Given the description of an element on the screen output the (x, y) to click on. 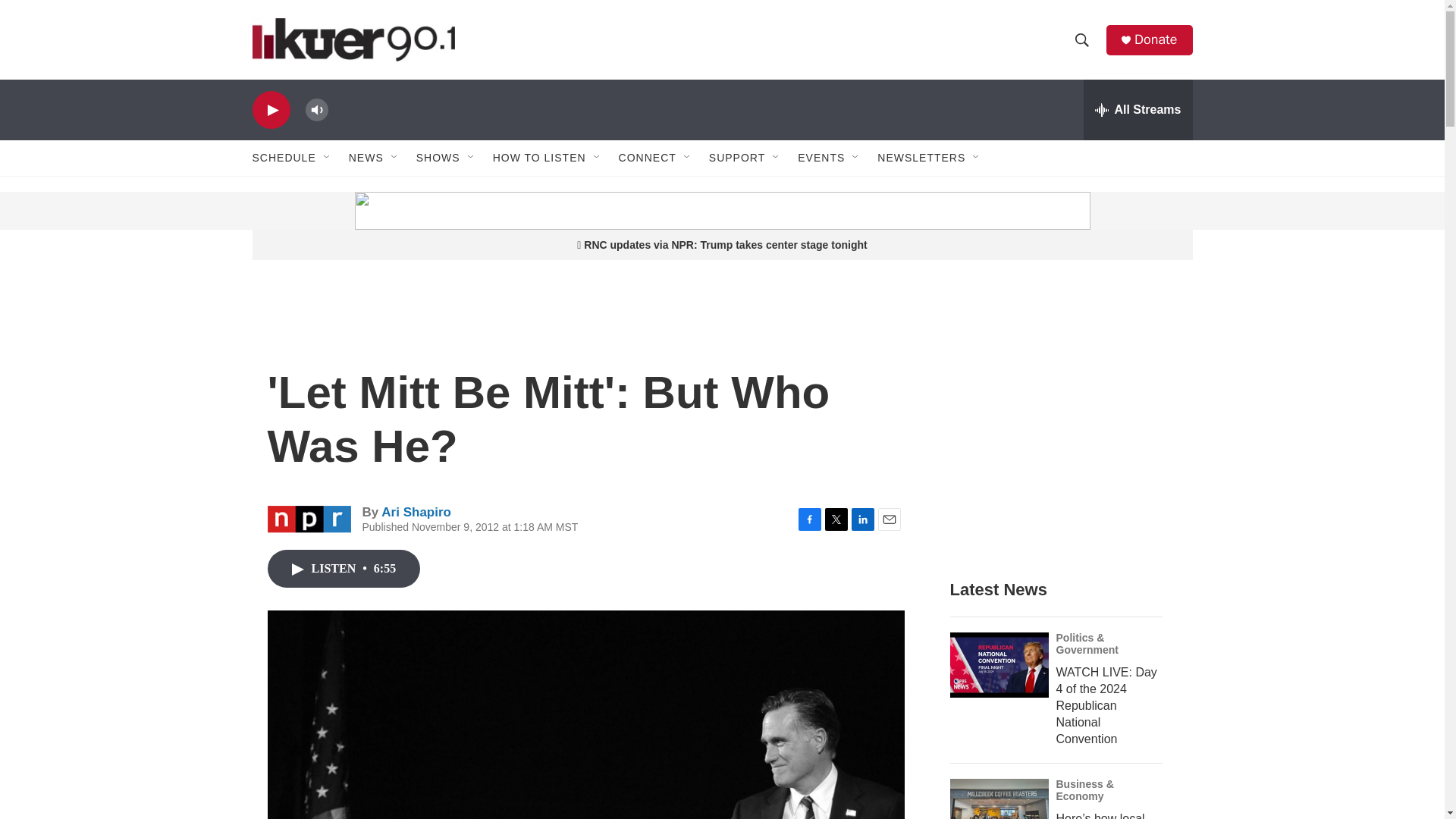
3rd party ad content (1062, 434)
3rd party ad content (367, 210)
